Given the description of an element on the screen output the (x, y) to click on. 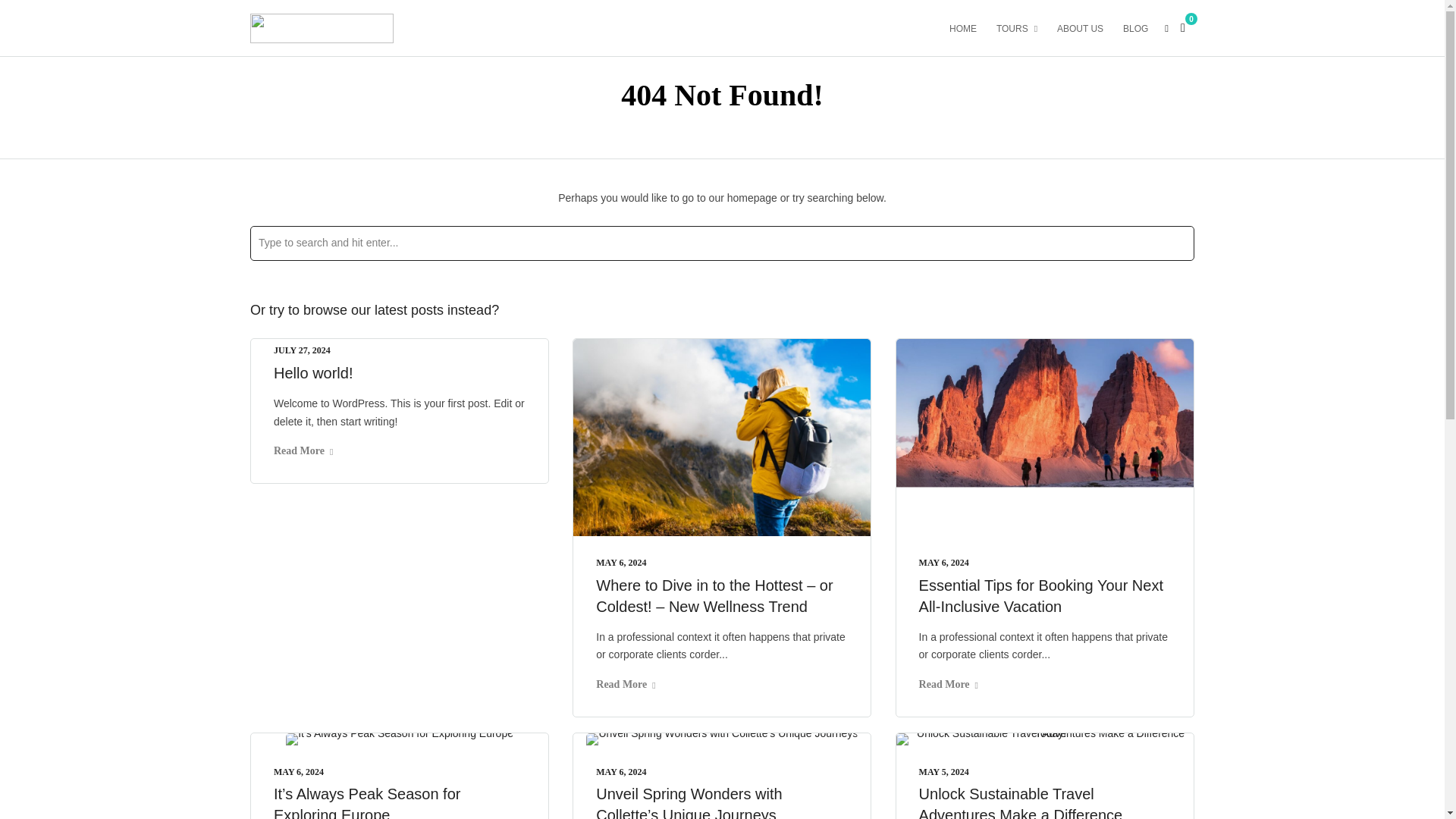
Read More (303, 450)
BLOG (1141, 27)
Hello world! (312, 372)
MAY 6, 2024 (298, 771)
TOURS (1022, 27)
Read More (625, 684)
JULY 27, 2024 (301, 349)
Hello world! (312, 372)
Essential Tips for Booking Your Next All-Inclusive Vacation (1040, 596)
